Given the description of an element on the screen output the (x, y) to click on. 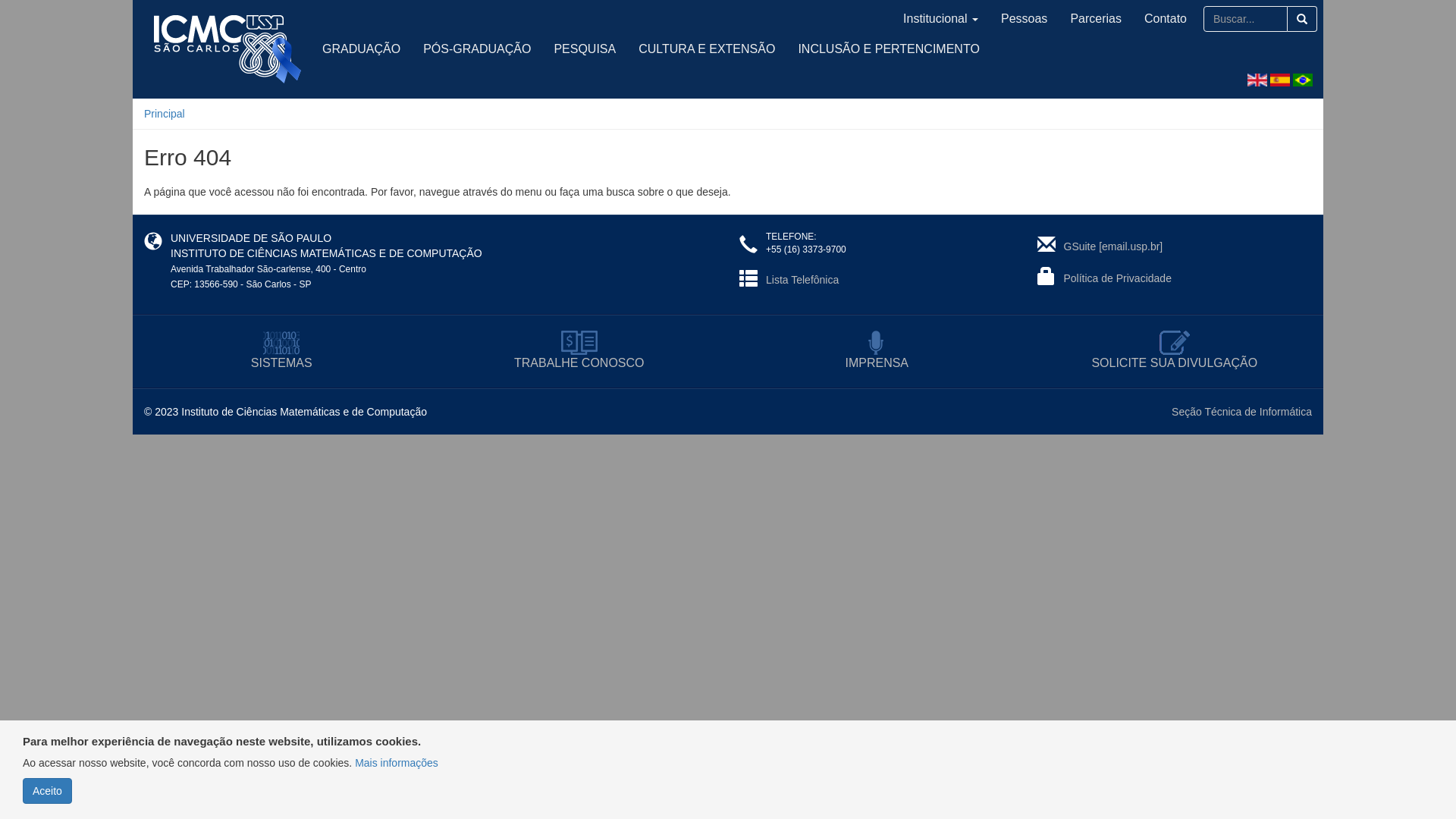
IMPRENSA Element type: text (876, 352)
SISTEMAS Element type: text (281, 352)
Contato Element type: text (1165, 18)
English Element type: hover (1257, 79)
GSuite [email.usp.br] Element type: text (1112, 246)
Pessoas Element type: text (1023, 18)
Principal Element type: text (164, 113)
Parcerias Element type: text (1095, 18)
TRABALHE CONOSCO Element type: text (579, 352)
Institucional Element type: text (940, 18)
PESQUISA Element type: text (584, 49)
